Given the description of an element on the screen output the (x, y) to click on. 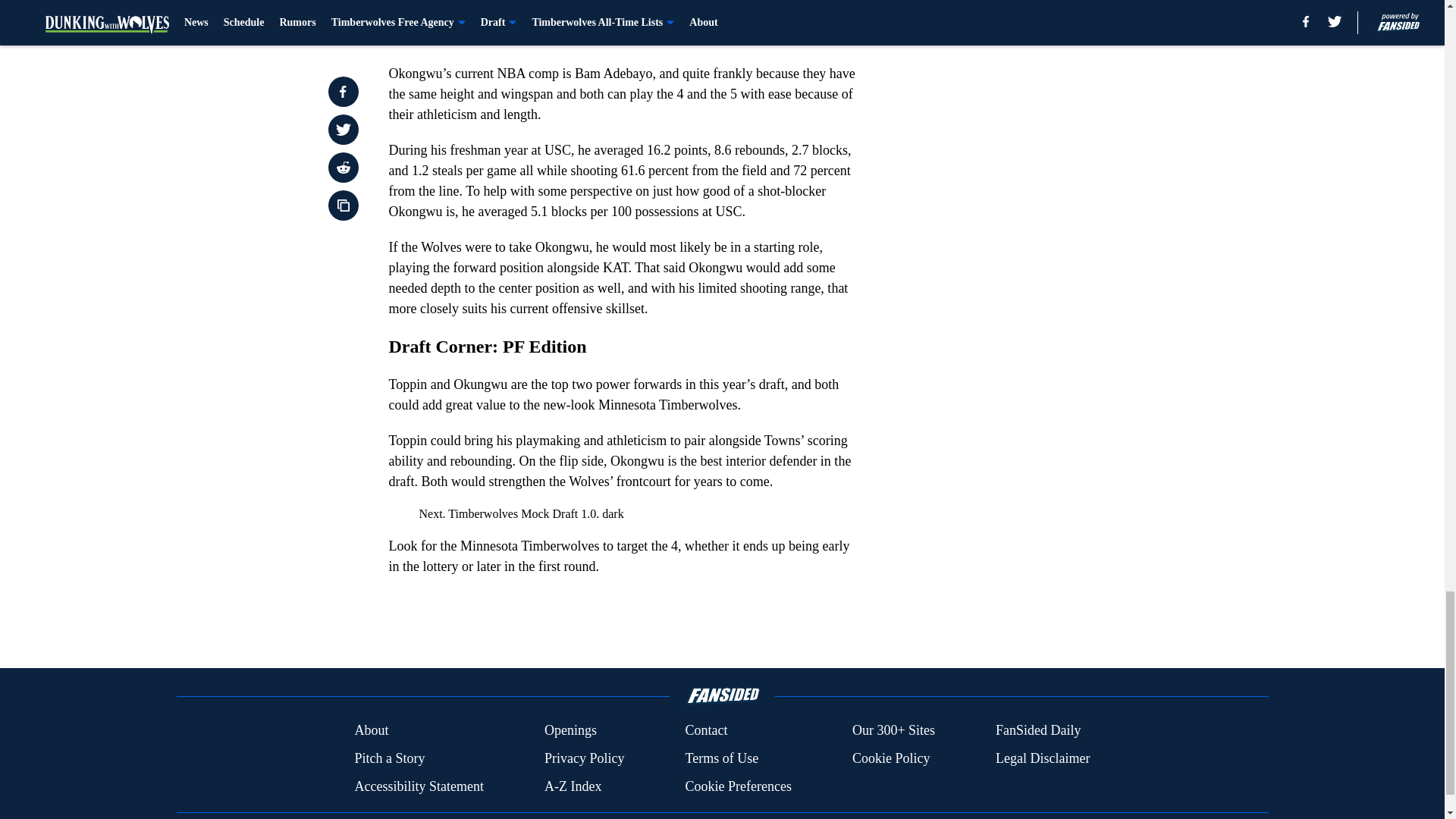
Openings (570, 730)
Legal Disclaimer (1042, 758)
About (370, 730)
Cookie Policy (890, 758)
Privacy Policy (584, 758)
Terms of Use (721, 758)
FanSided Daily (1038, 730)
Contact (705, 730)
Pitch a Story (389, 758)
